Given the description of an element on the screen output the (x, y) to click on. 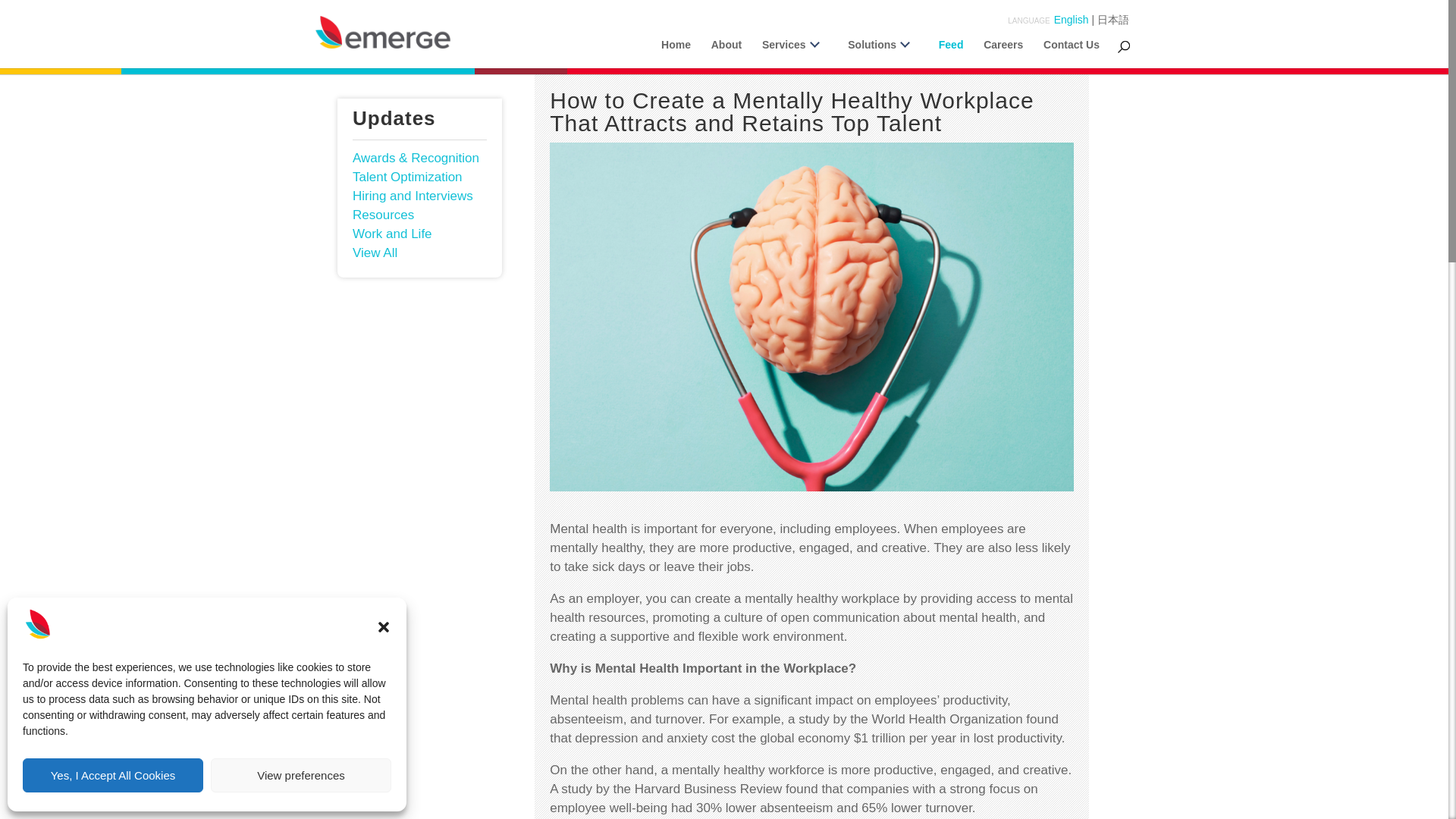
Services (794, 53)
Contact Us (1071, 53)
Yes, I Accept All Cookies (113, 775)
Home (675, 53)
Solutions (882, 53)
About (726, 53)
Careers (1003, 53)
View preferences (301, 775)
